Given the description of an element on the screen output the (x, y) to click on. 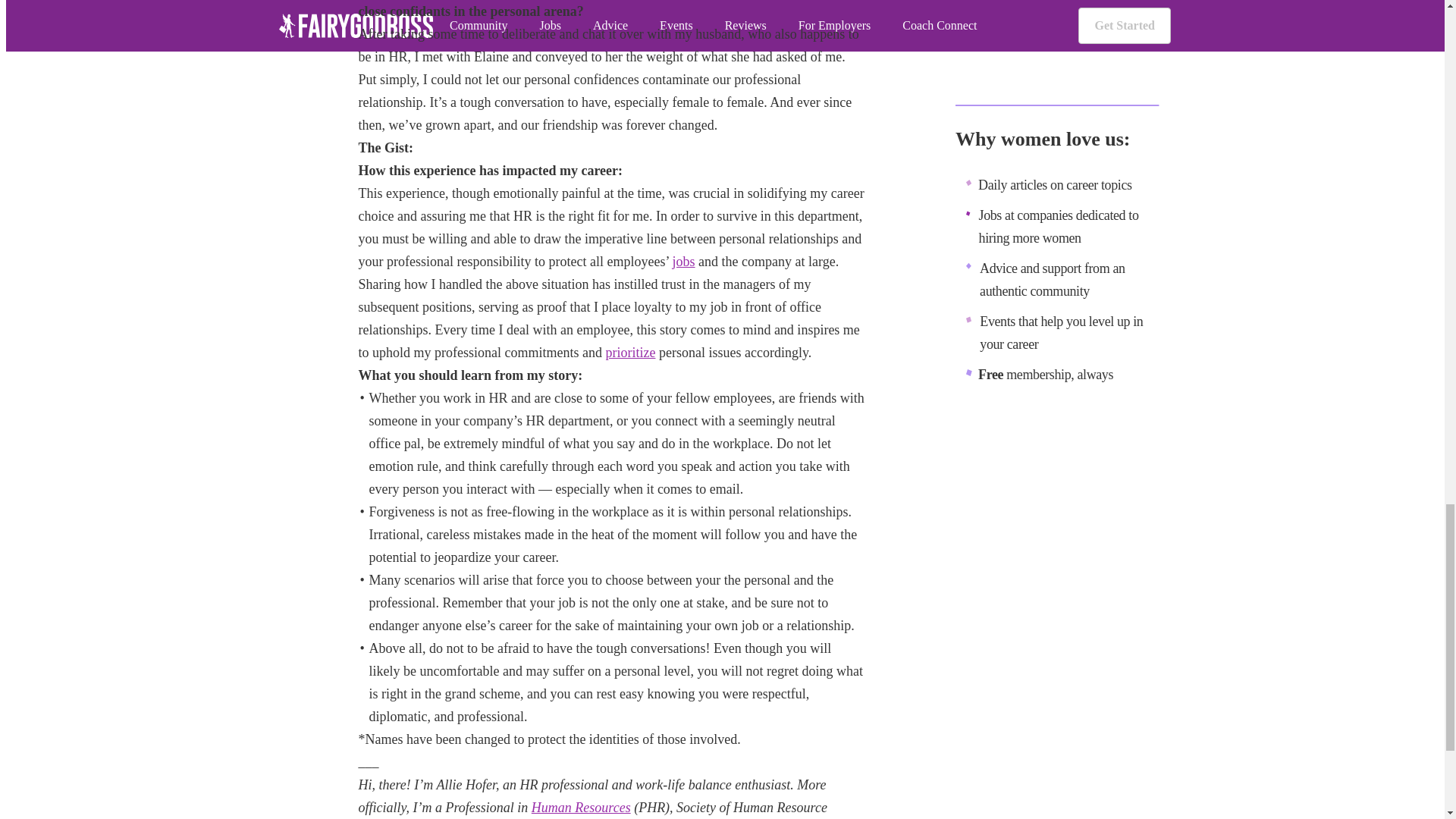
Human Resources (580, 807)
prioritize (630, 352)
jobs (683, 261)
